Given the description of an element on the screen output the (x, y) to click on. 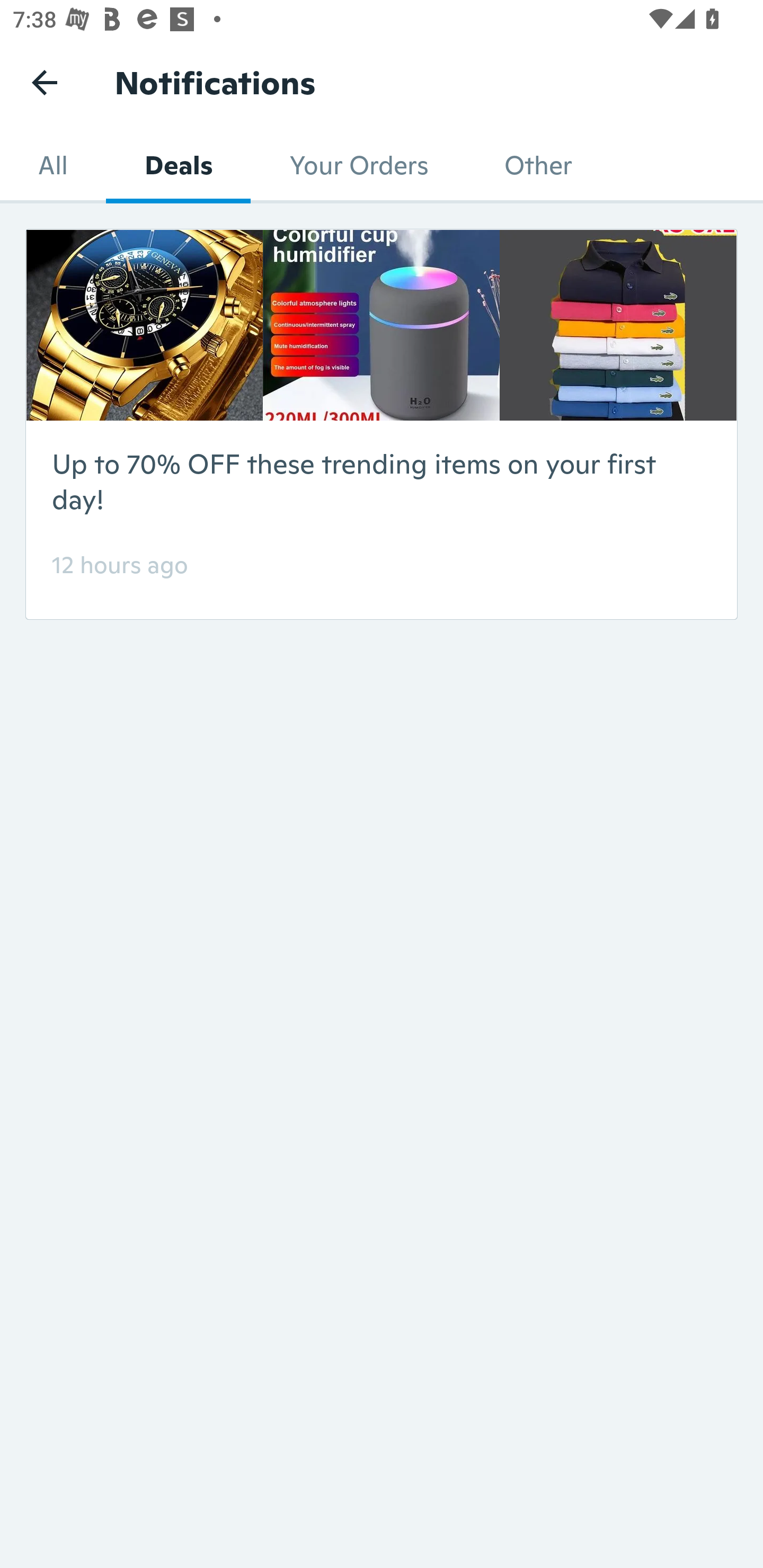
Navigate up (44, 82)
All (53, 165)
Deals (178, 165)
Your Orders (358, 165)
Other (538, 165)
